Given the description of an element on the screen output the (x, y) to click on. 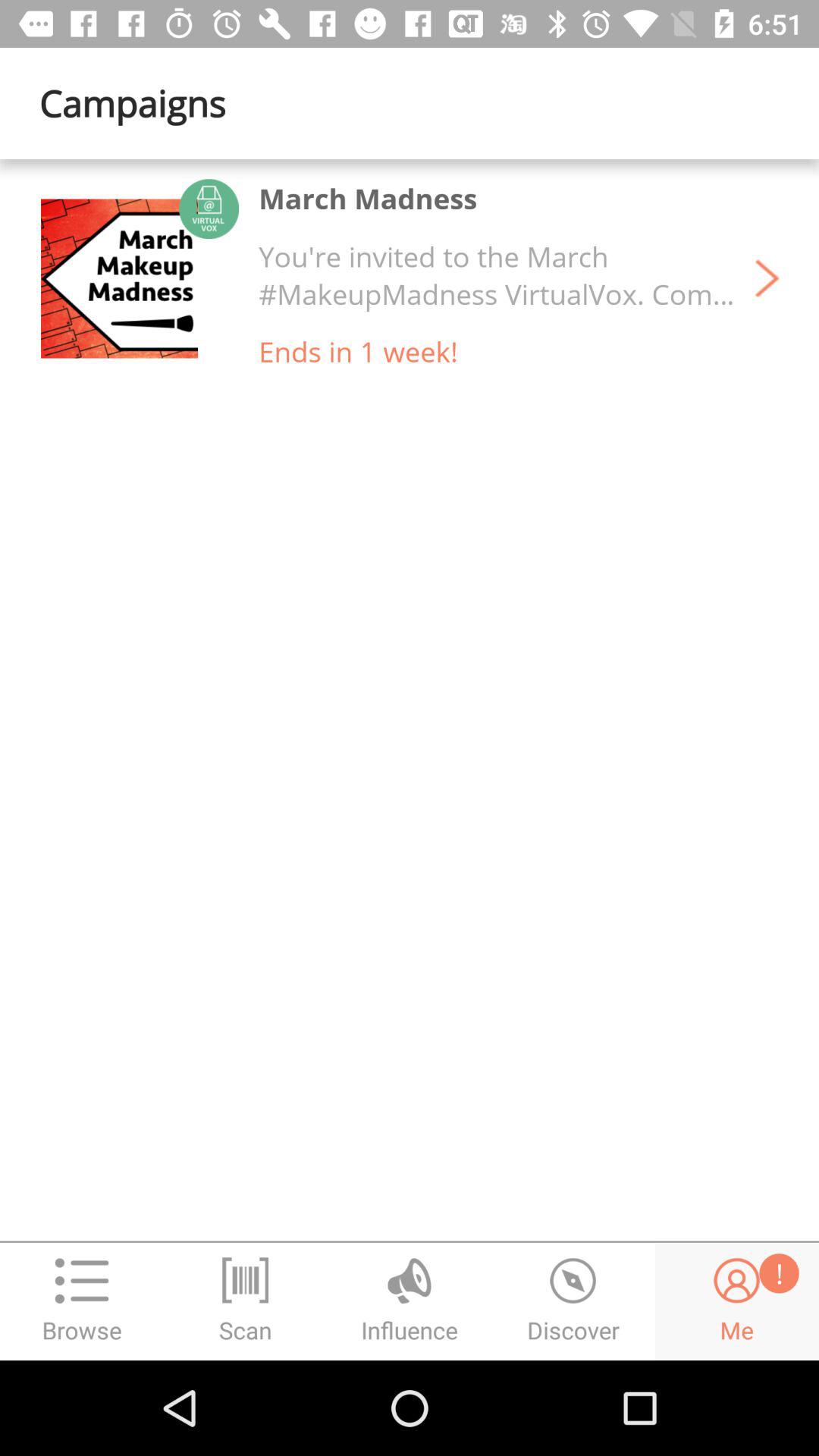
press you re invited icon (496, 274)
